Given the description of an element on the screen output the (x, y) to click on. 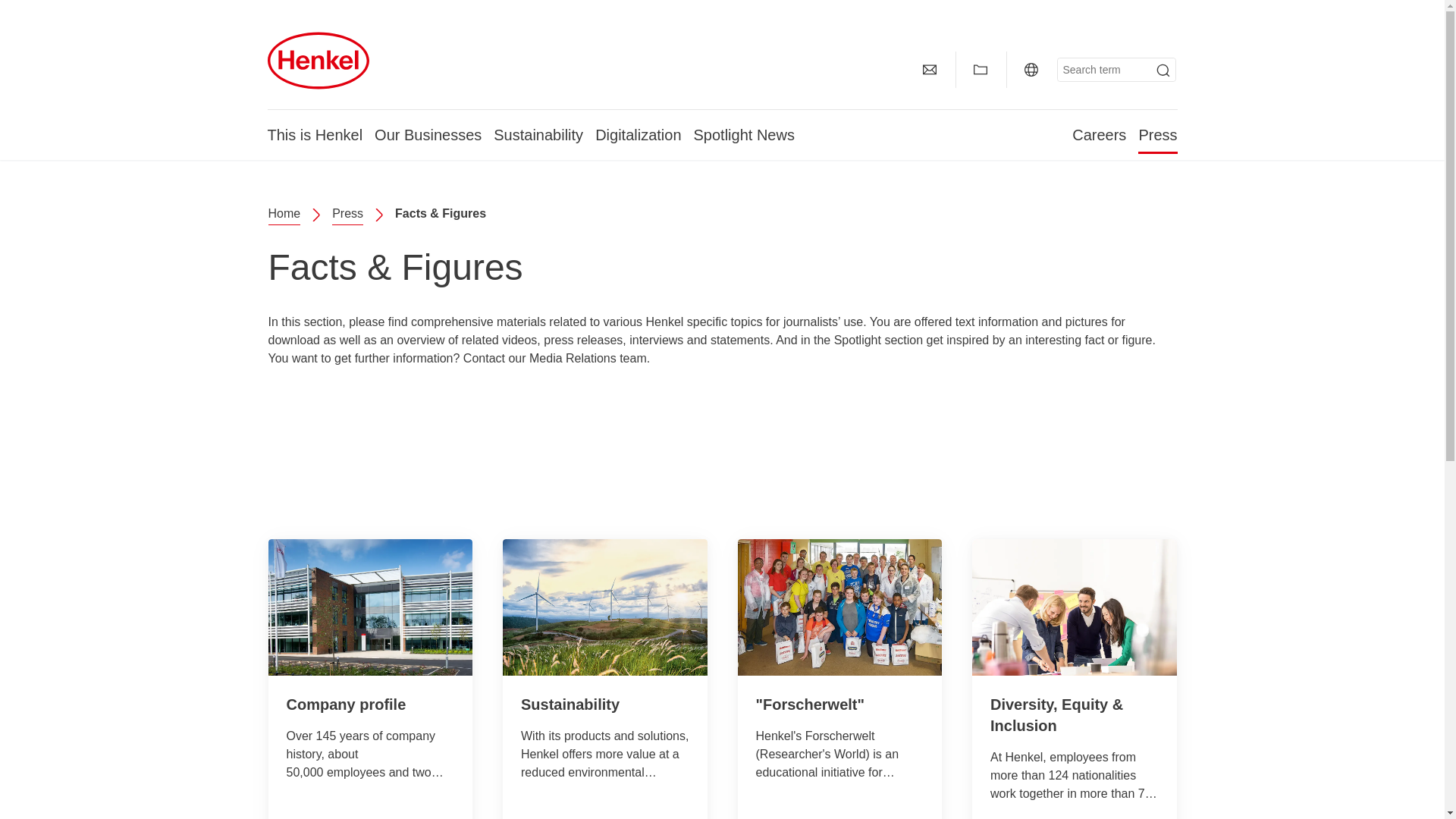
This is Henkel (314, 134)
